Given the description of an element on the screen output the (x, y) to click on. 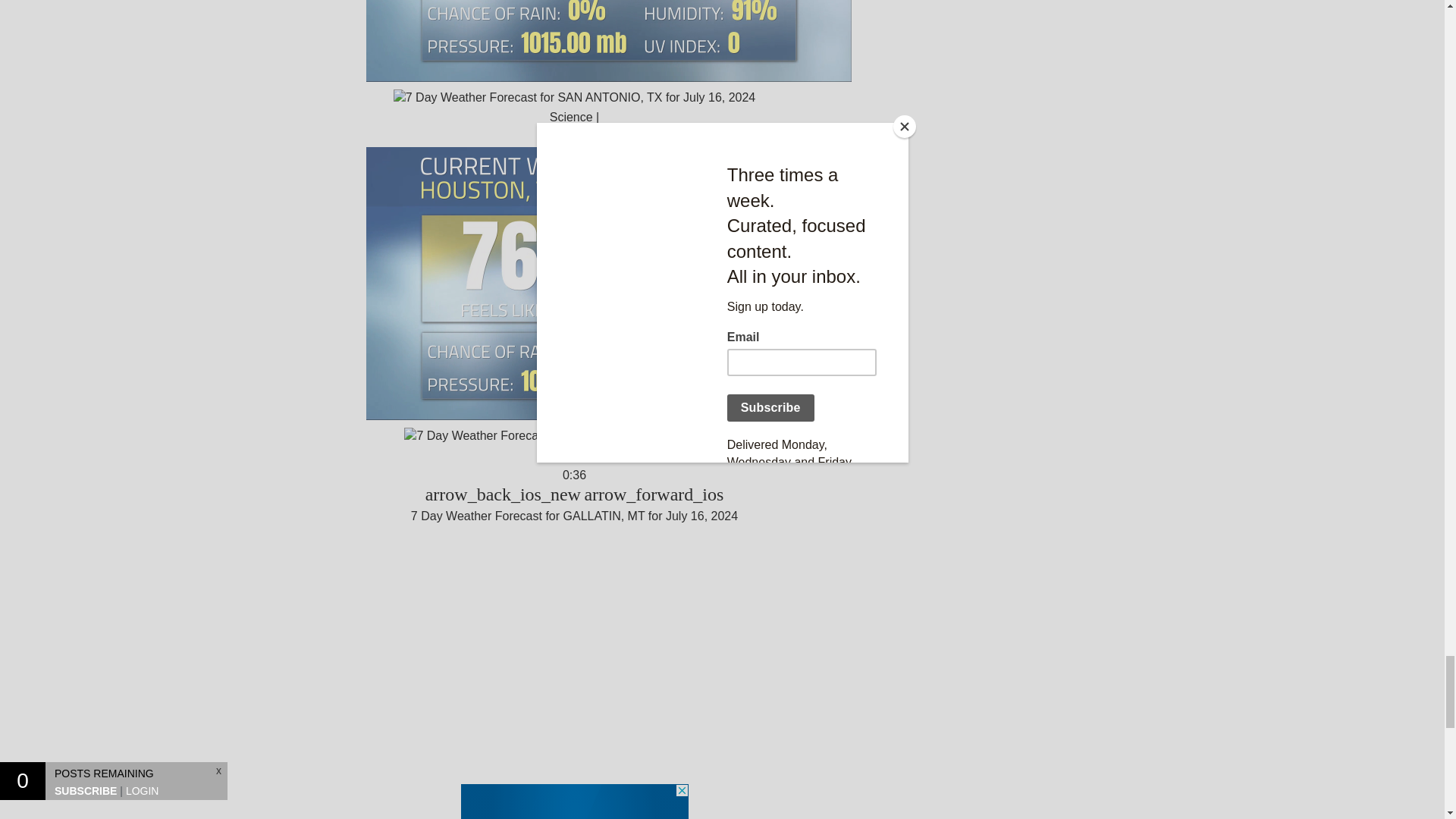
3rd party ad content (574, 801)
3rd party ad content (574, 645)
